Given the description of an element on the screen output the (x, y) to click on. 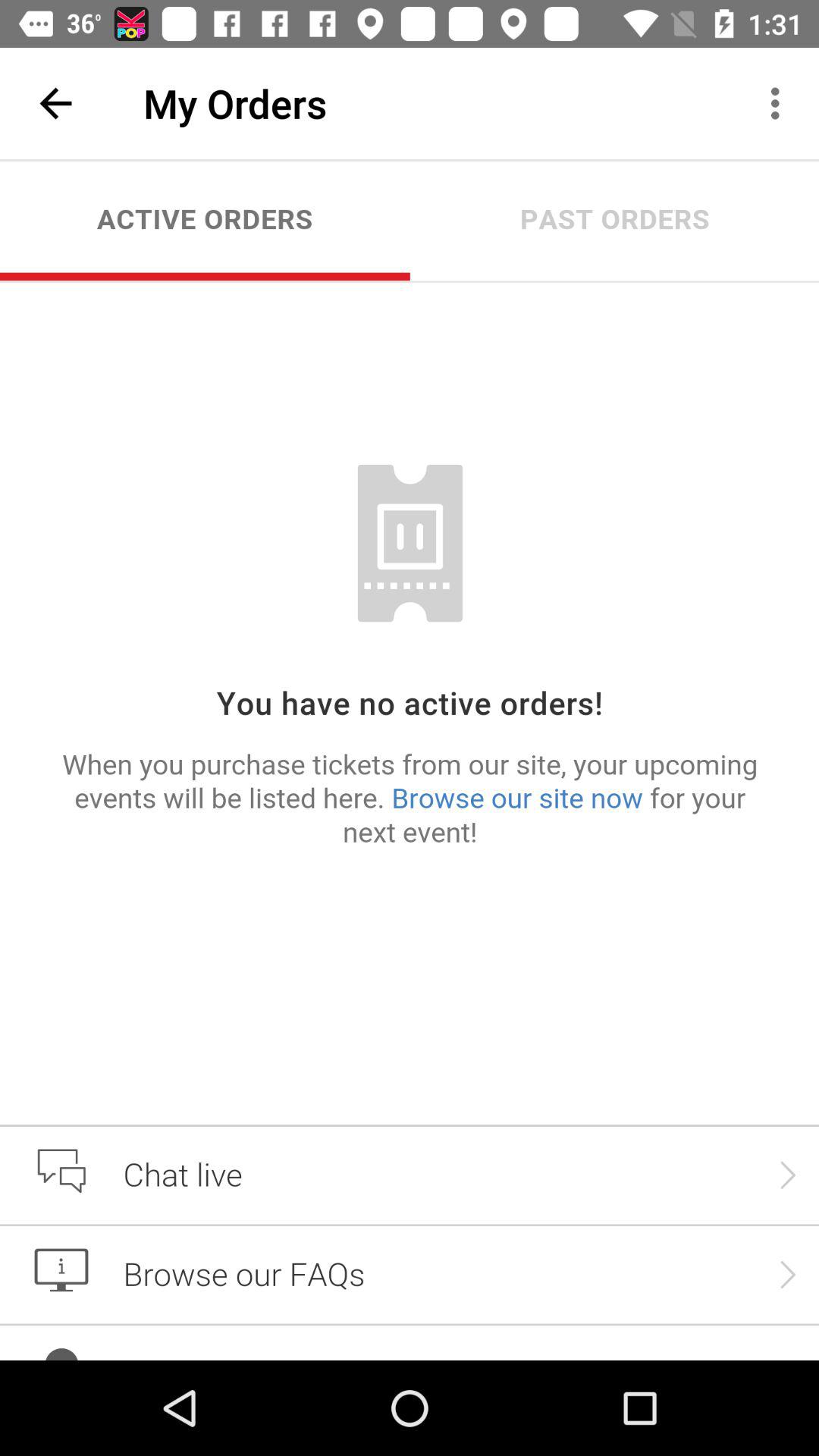
chat (409, 759)
